Given the description of an element on the screen output the (x, y) to click on. 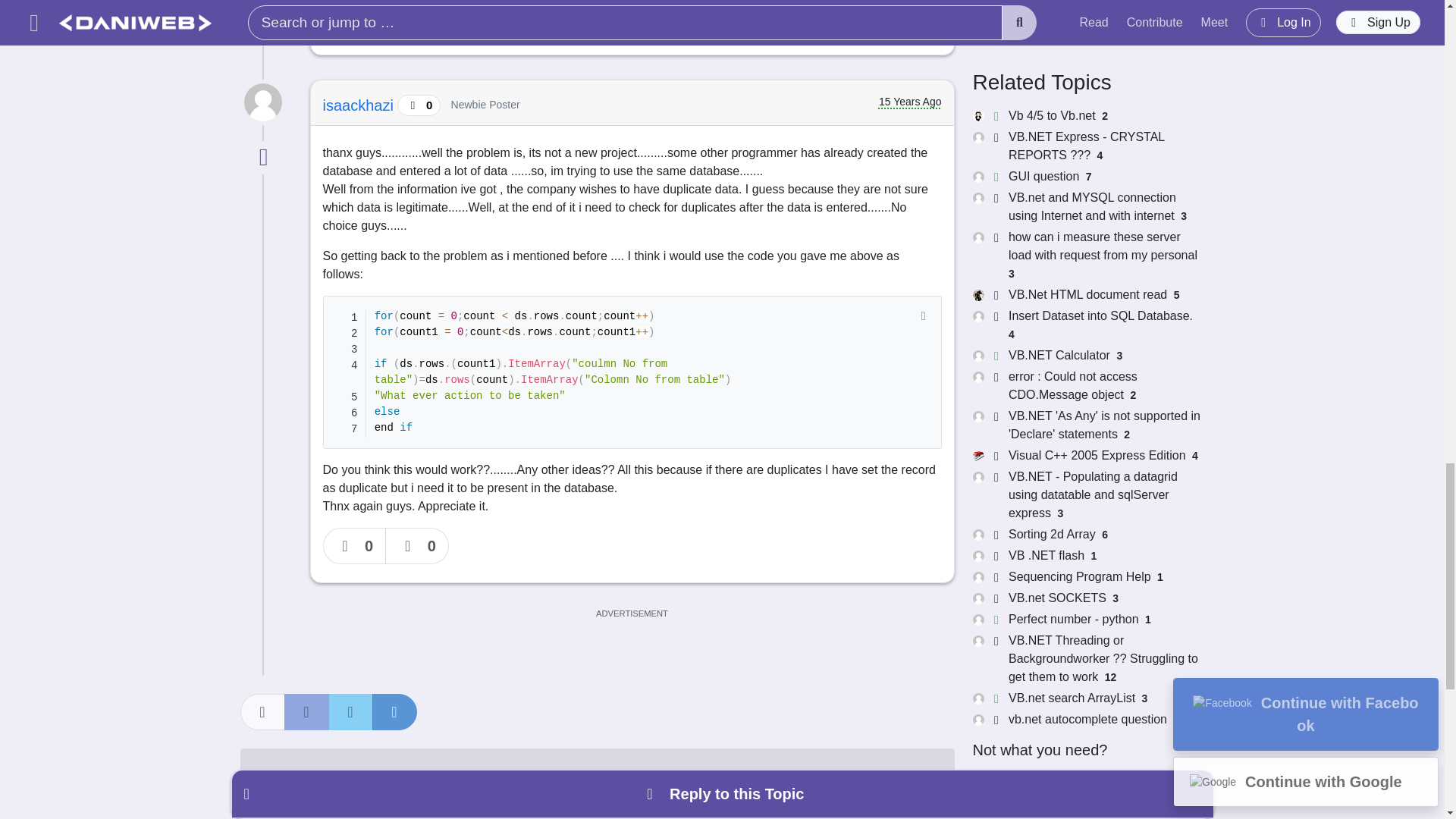
0 (355, 545)
0 (355, 18)
0 (416, 545)
0 (416, 18)
isaackhazi (360, 105)
